Given the description of an element on the screen output the (x, y) to click on. 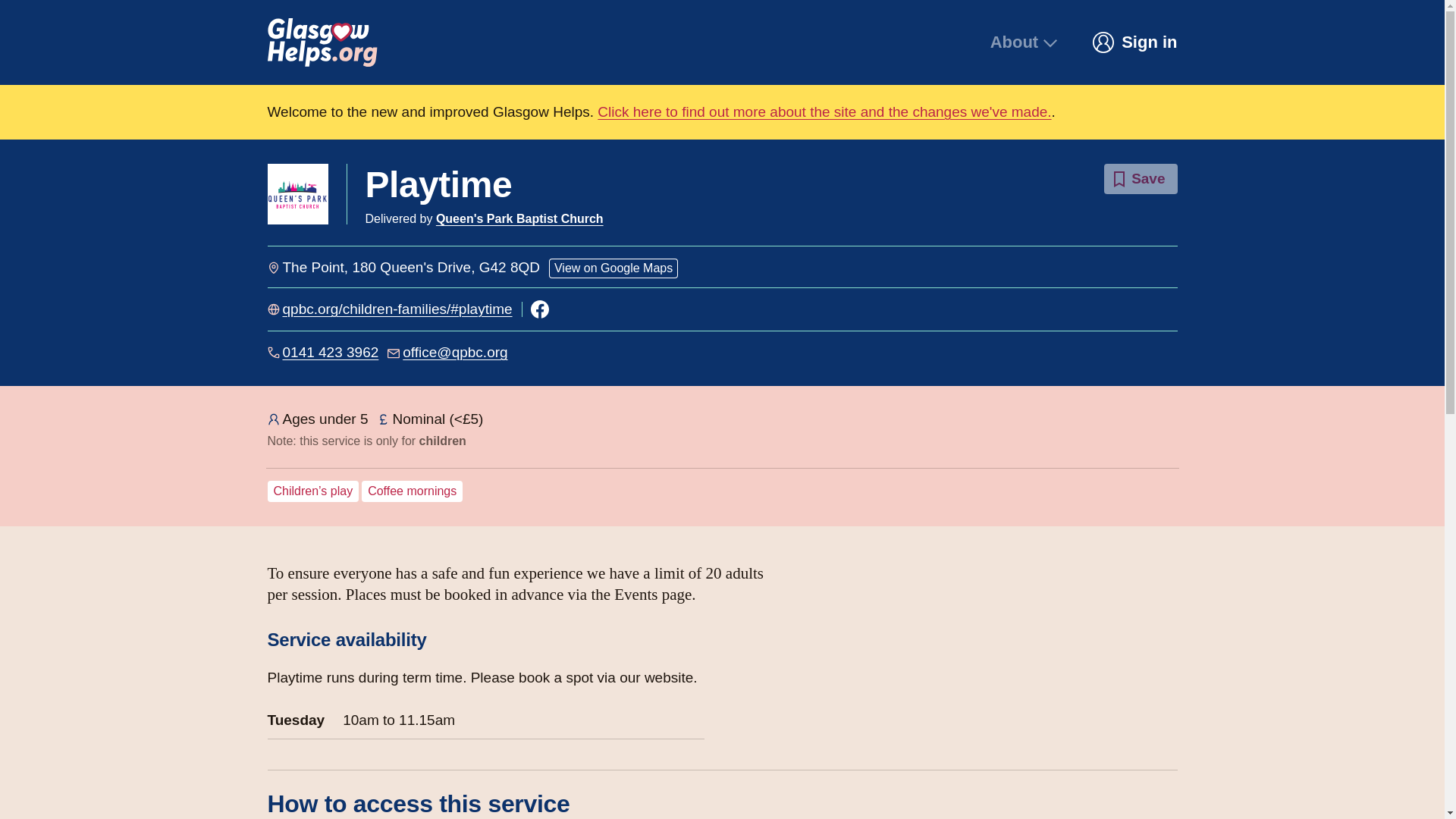
View on Google Maps (613, 268)
0141 423 3962 (330, 352)
About (1024, 42)
Sign in (1134, 42)
Save (1139, 178)
Queen's Park Baptist Church (519, 218)
